Given the description of an element on the screen output the (x, y) to click on. 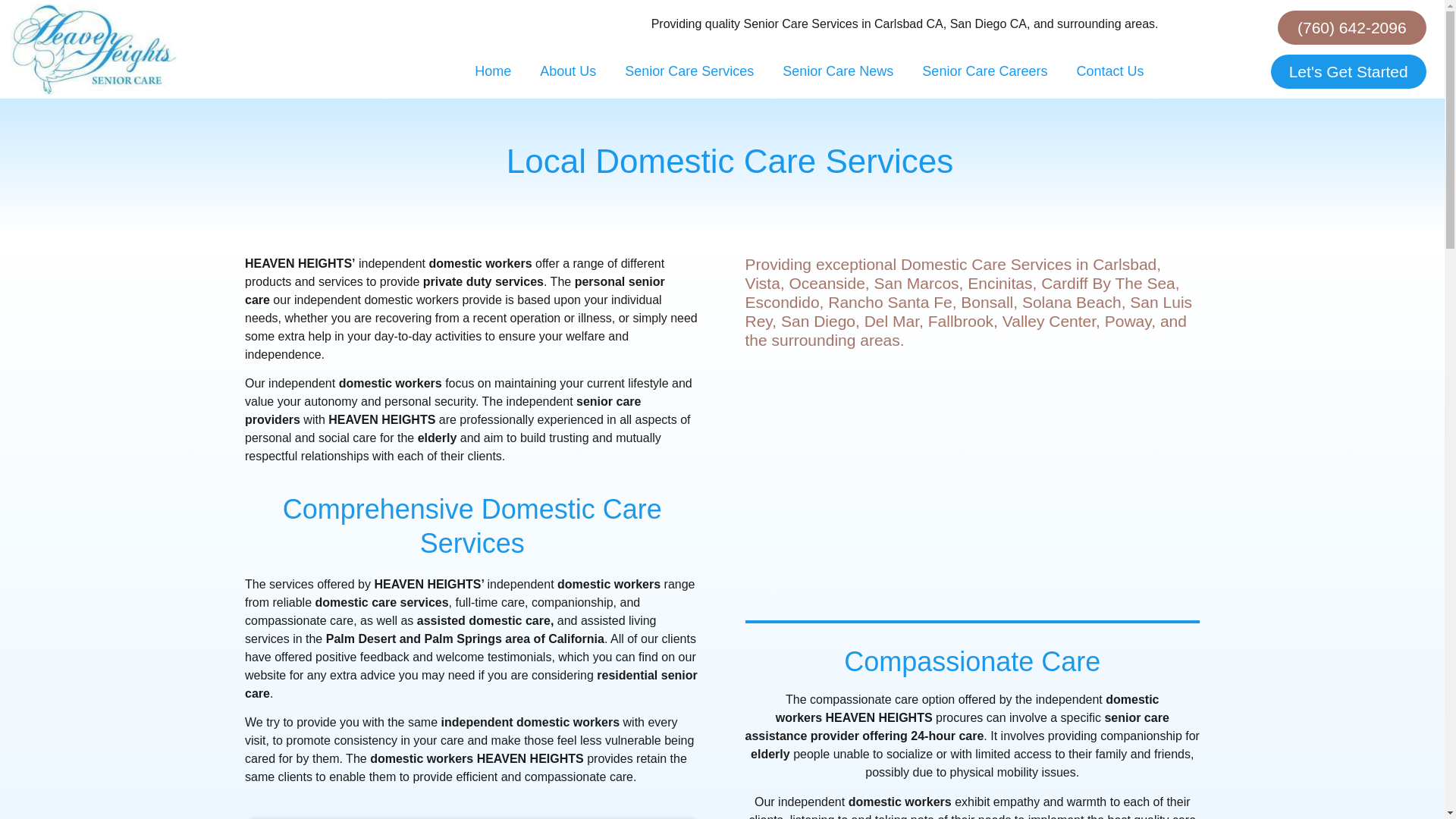
Let's Get Started (1348, 71)
About Us (567, 70)
Home (492, 70)
Contact Us (1109, 70)
Senior Care Careers (984, 70)
Senior Care Services (689, 70)
Senior Care News (837, 70)
